Given the description of an element on the screen output the (x, y) to click on. 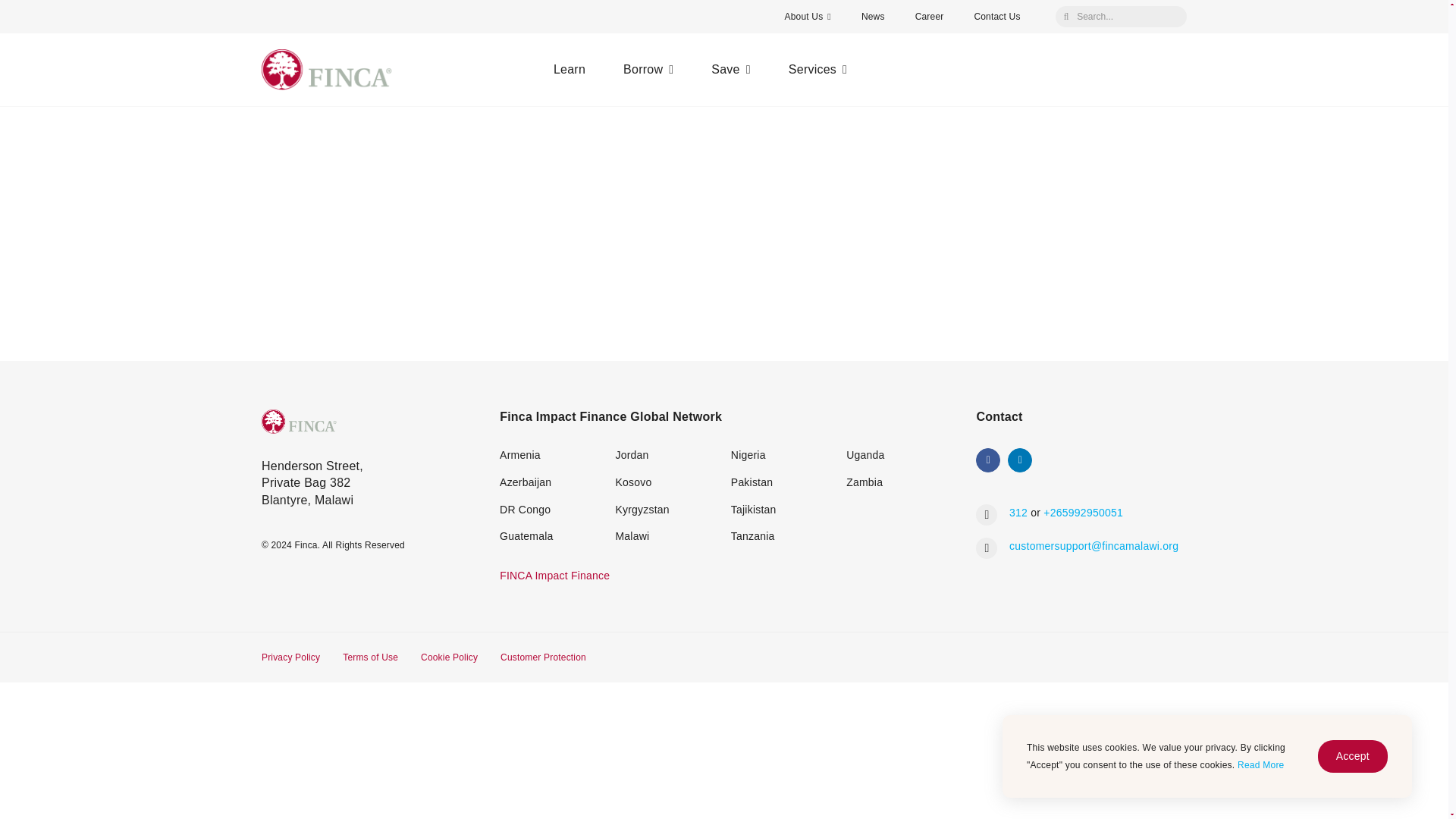
Career (929, 16)
Facebook (987, 459)
DR Congo (524, 509)
About Us (807, 16)
News (872, 16)
Armenia (519, 454)
LinkedIn (1019, 459)
Contact Us (996, 16)
Finca-Logo (299, 421)
Jordan (630, 454)
Borrow (648, 69)
Services (817, 69)
Kosovo (632, 481)
Azerbaijan (525, 481)
Guatemala (526, 535)
